Given the description of an element on the screen output the (x, y) to click on. 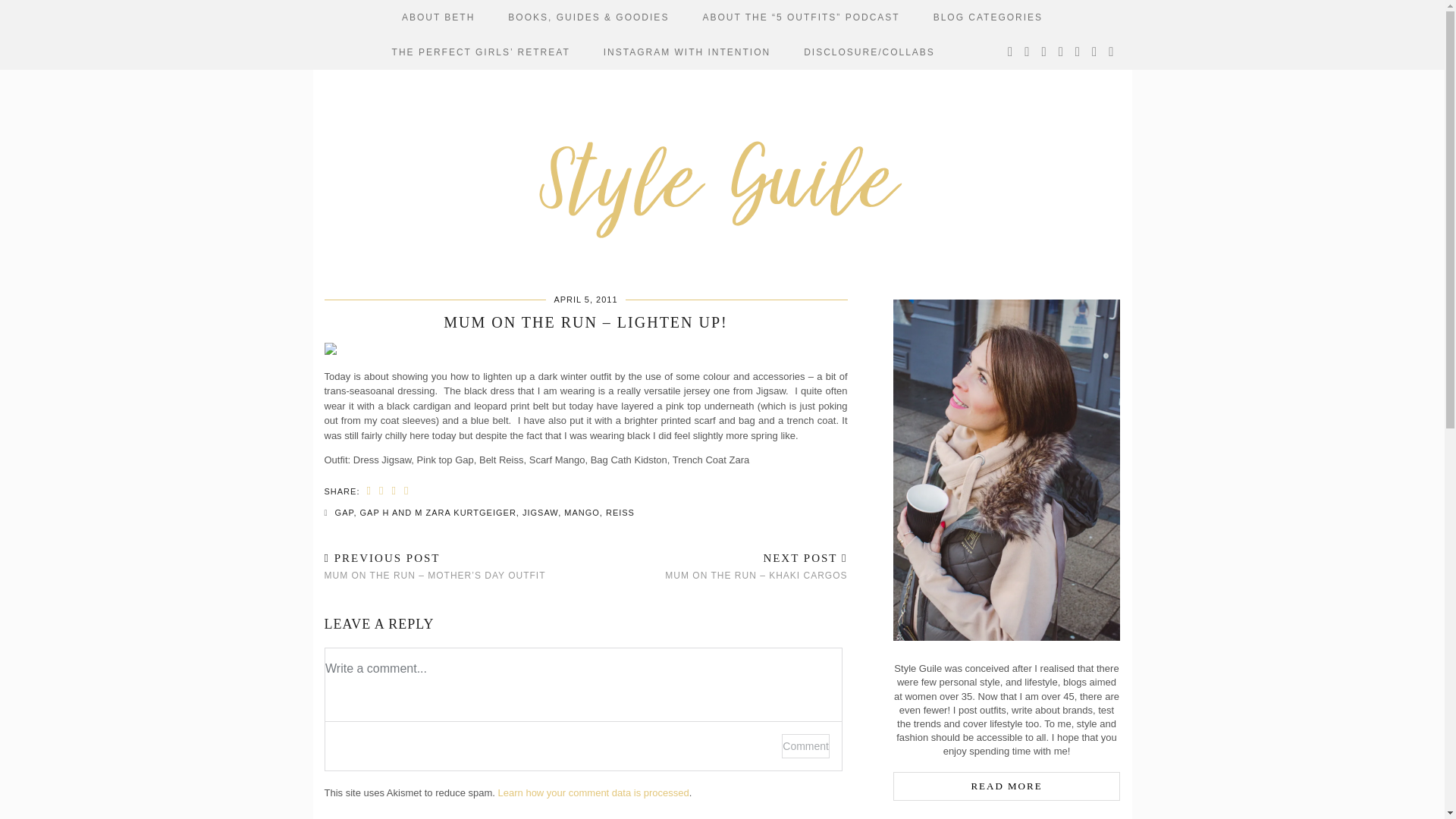
INSTAGRAM WITH INTENTION (686, 52)
BLOG CATEGORIES (988, 17)
ABOUT BETH (438, 17)
